Given the description of an element on the screen output the (x, y) to click on. 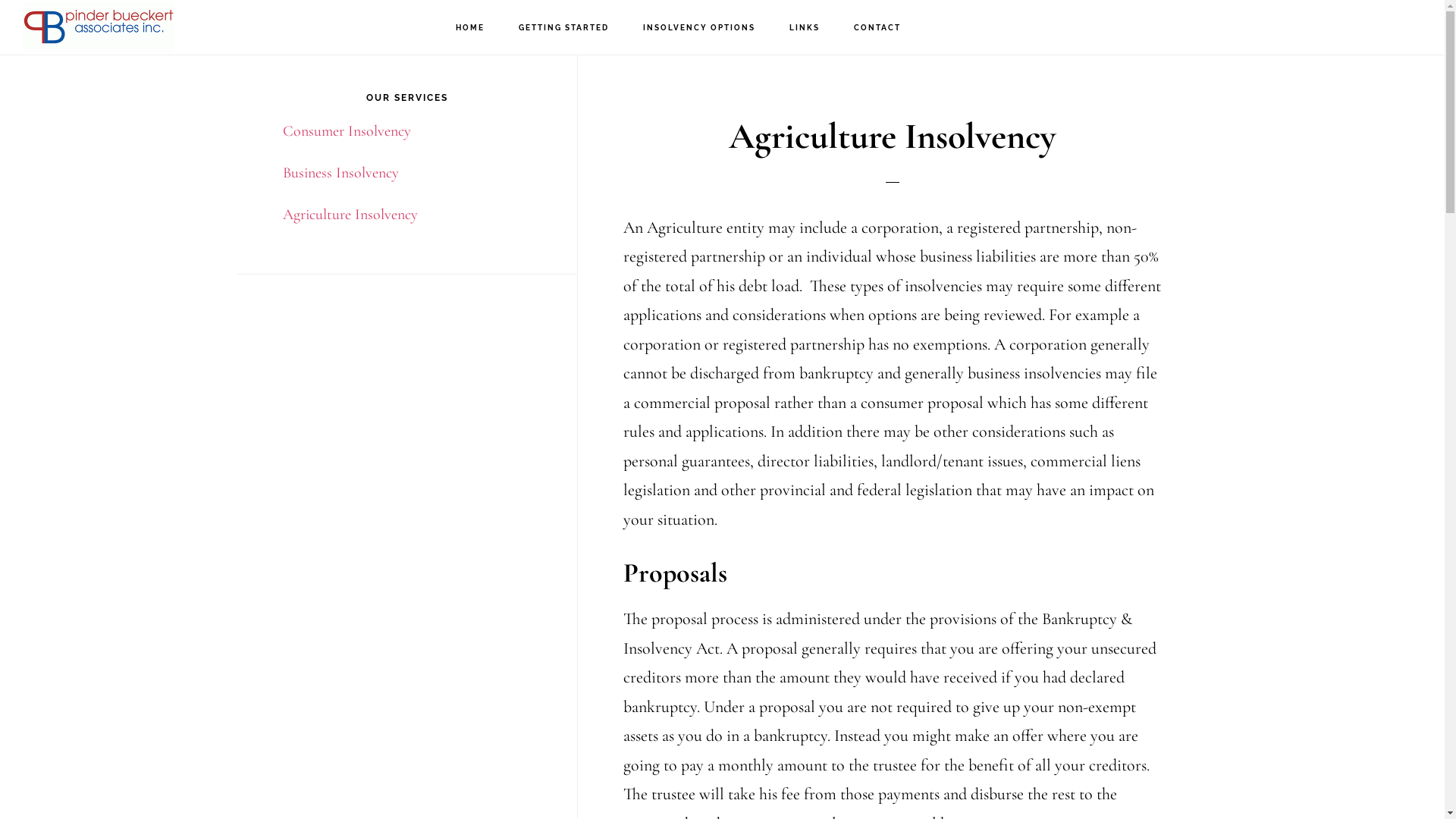
GETTING STARTED Element type: text (563, 27)
HOME Element type: text (469, 27)
Agriculture Insolvency Element type: text (349, 214)
Consumer Insolvency Element type: text (346, 131)
PINDER BUECKERT & ASSOCIATES INC. Element type: text (98, 26)
CONTACT Element type: text (877, 27)
INSOLVENCY OPTIONS Element type: text (698, 27)
Skip to main content Element type: text (0, 0)
LINKS Element type: text (804, 27)
Business Insolvency Element type: text (340, 172)
